Given the description of an element on the screen output the (x, y) to click on. 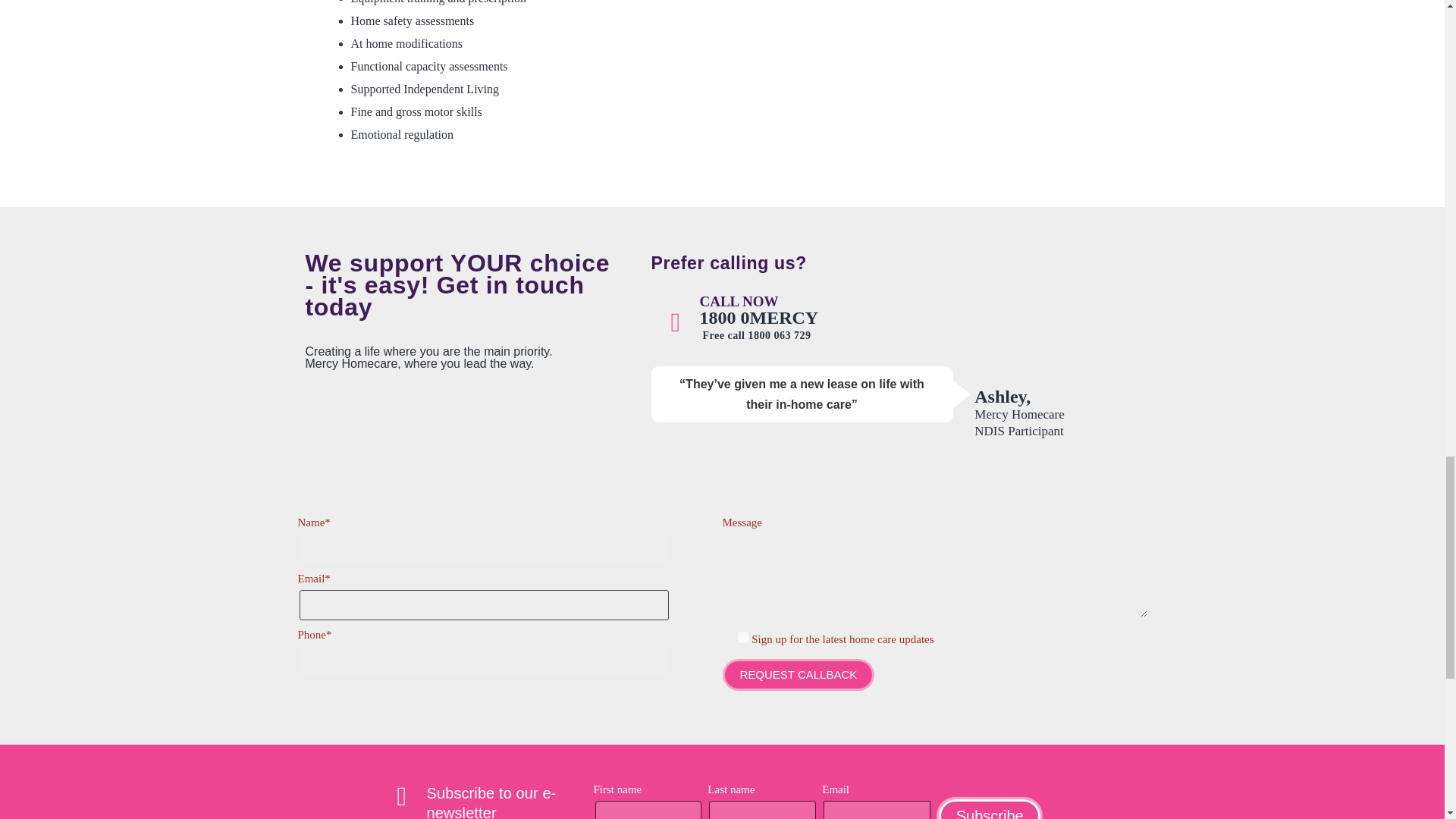
REQUEST CALLBACK (798, 675)
Sign up for the latest home care updates (742, 636)
Subscribe (989, 807)
